Given the description of an element on the screen output the (x, y) to click on. 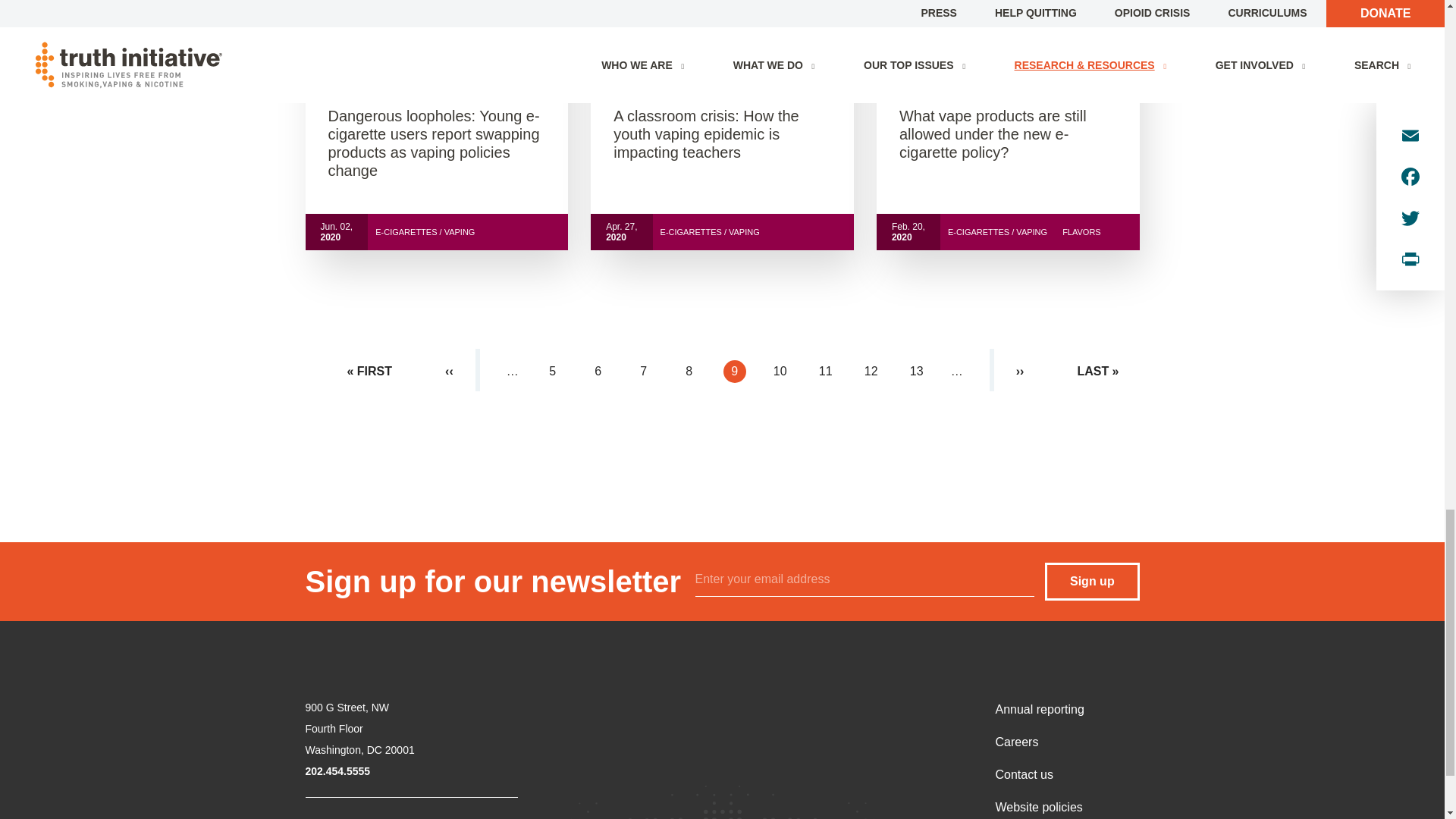
Go to page 11 (825, 371)
Go to first page (370, 371)
Sign up (1092, 581)
Go to last page (1097, 371)
Go to page 12 (871, 371)
Go to previous page (448, 371)
Go to page 13 (916, 371)
Go to page 6 (598, 371)
Current page (734, 371)
Go to page 10 (780, 371)
Go to next page (1020, 371)
Go to page 7 (643, 371)
Go to page 5 (552, 371)
Go to page 8 (689, 371)
